Given the description of an element on the screen output the (x, y) to click on. 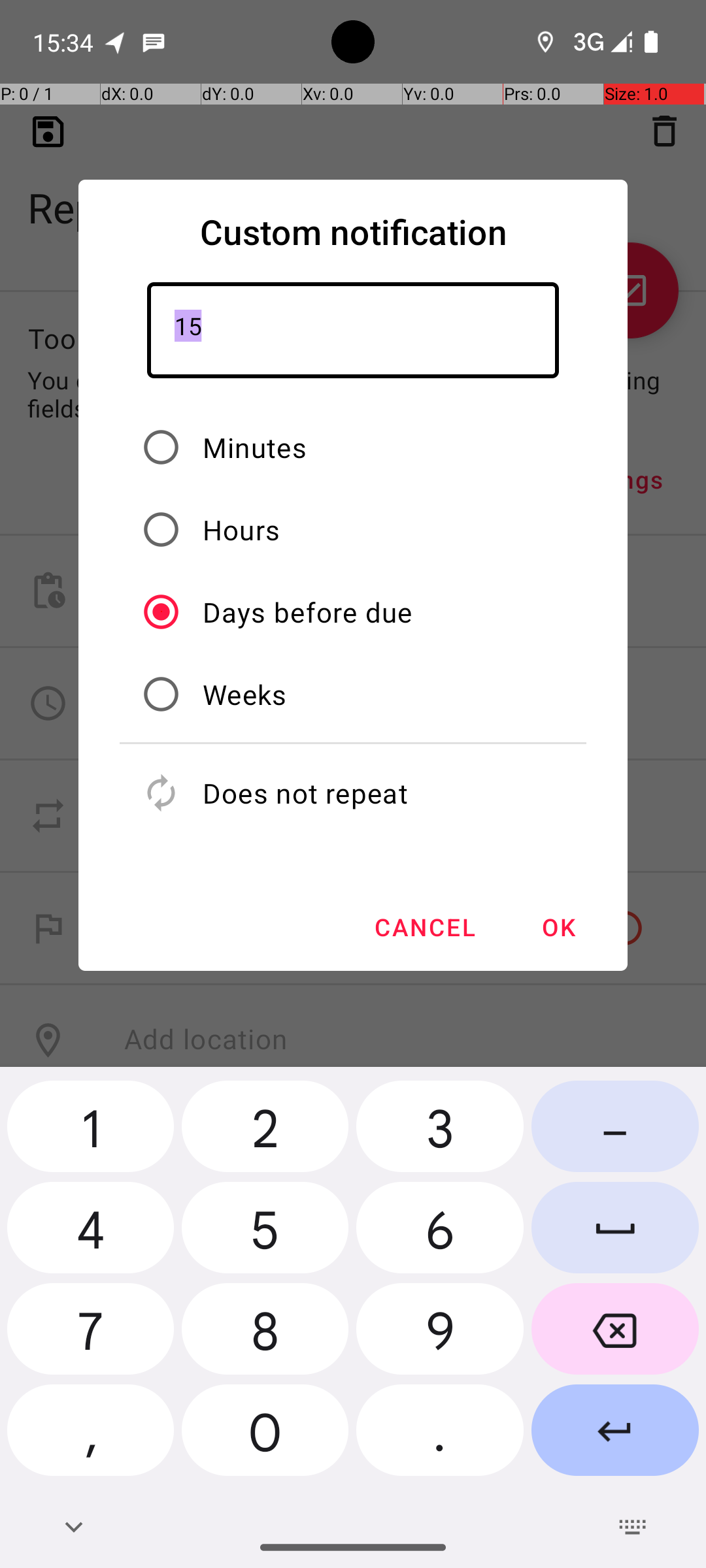
Custom notification Element type: android.widget.TextView (352, 231)
Minutes Element type: android.widget.TextView (254, 446)
Hours Element type: android.widget.TextView (241, 529)
Days before due Element type: android.widget.TextView (307, 611)
Weeks Element type: android.widget.TextView (244, 693)
